Given the description of an element on the screen output the (x, y) to click on. 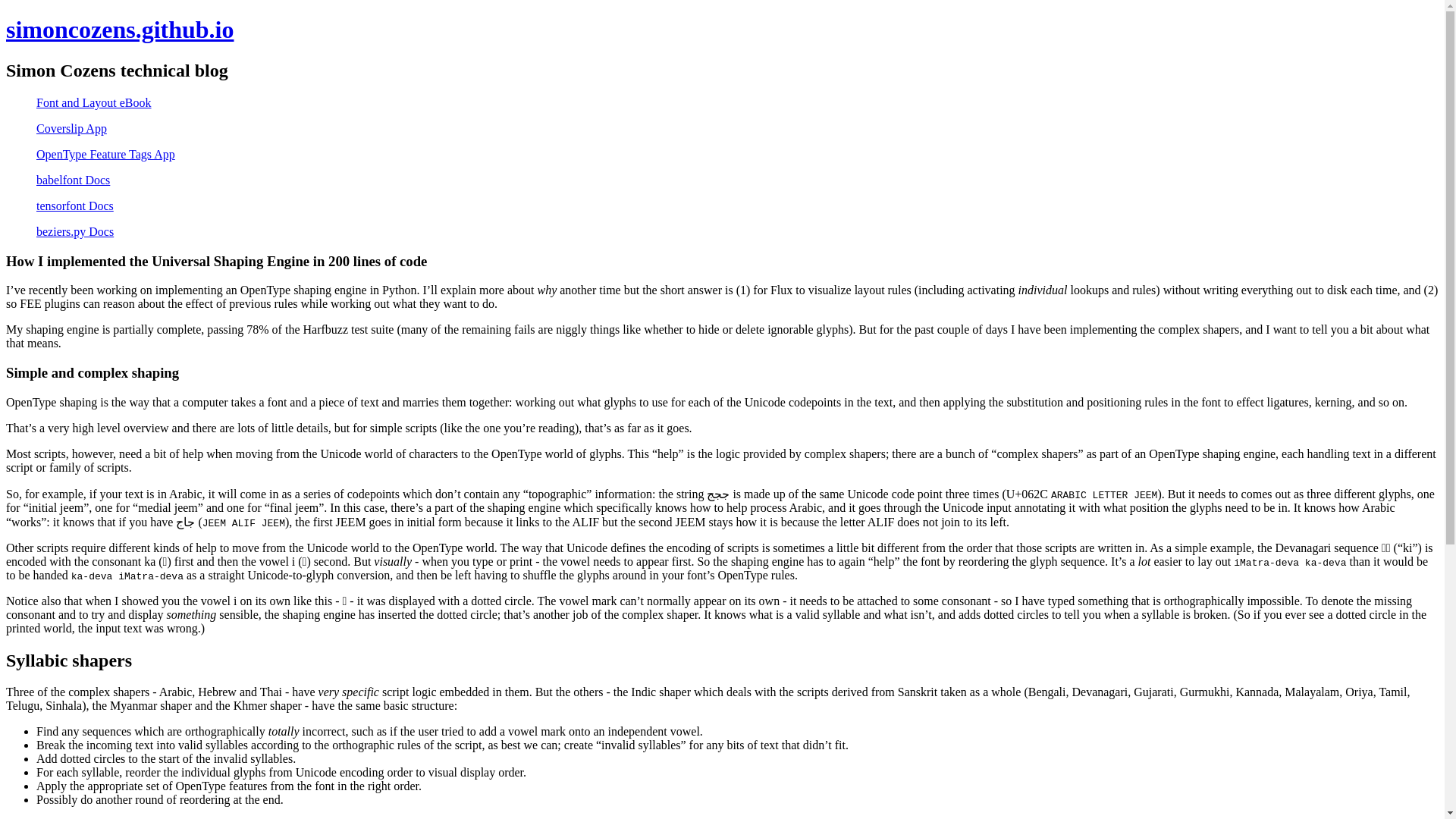
OpenType Feature Tags App (105, 154)
tensorfont Docs (74, 205)
simoncozens.github.io (118, 29)
babelfont Docs (73, 179)
Coverslip App (71, 128)
Font and Layout eBook (93, 102)
beziers.py Docs (74, 231)
